Given the description of an element on the screen output the (x, y) to click on. 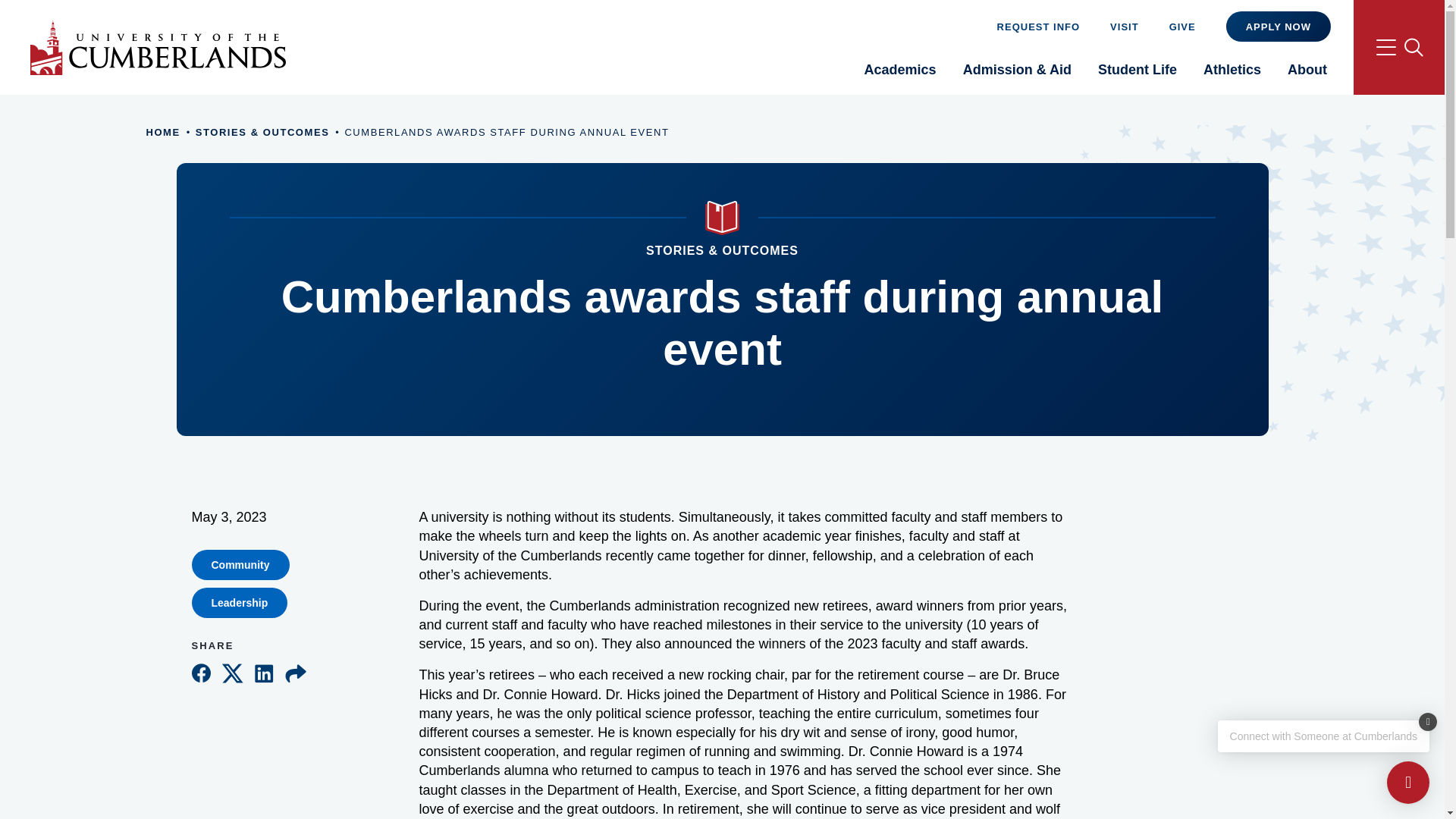
VISIT (1123, 26)
Linkedin (263, 670)
Email (295, 670)
Facebook (199, 670)
Academics (900, 74)
GIVE (1182, 26)
APPLY NOW (1277, 26)
Twitter (232, 670)
REQUEST INFO (1038, 26)
